Given the description of an element on the screen output the (x, y) to click on. 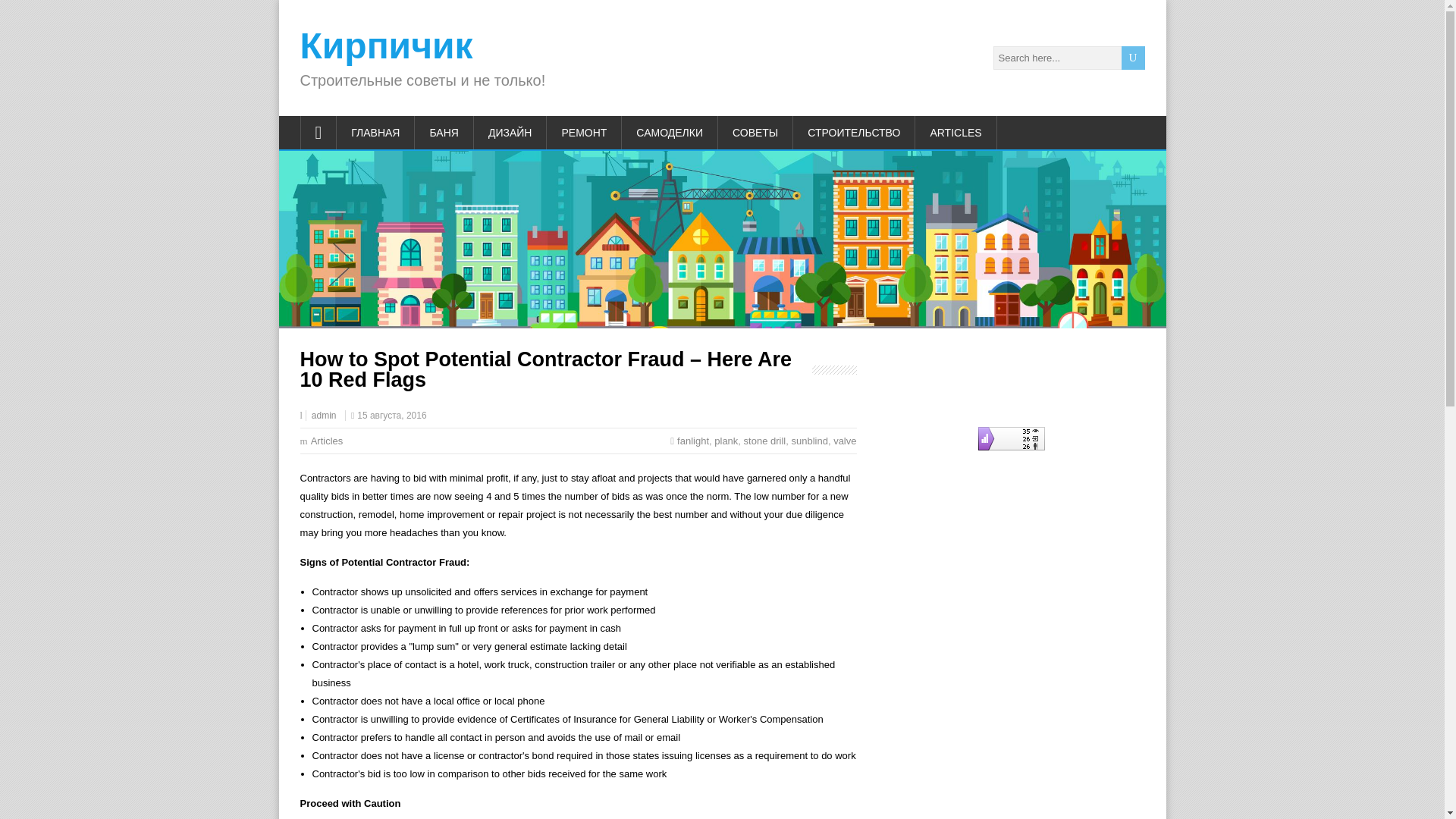
fanlight (693, 440)
ARTICLES (955, 132)
Articles (327, 440)
U (1132, 57)
U (1132, 57)
plank (726, 440)
admin (323, 415)
sunblind (808, 440)
U (1132, 57)
valve (844, 440)
